Given the description of an element on the screen output the (x, y) to click on. 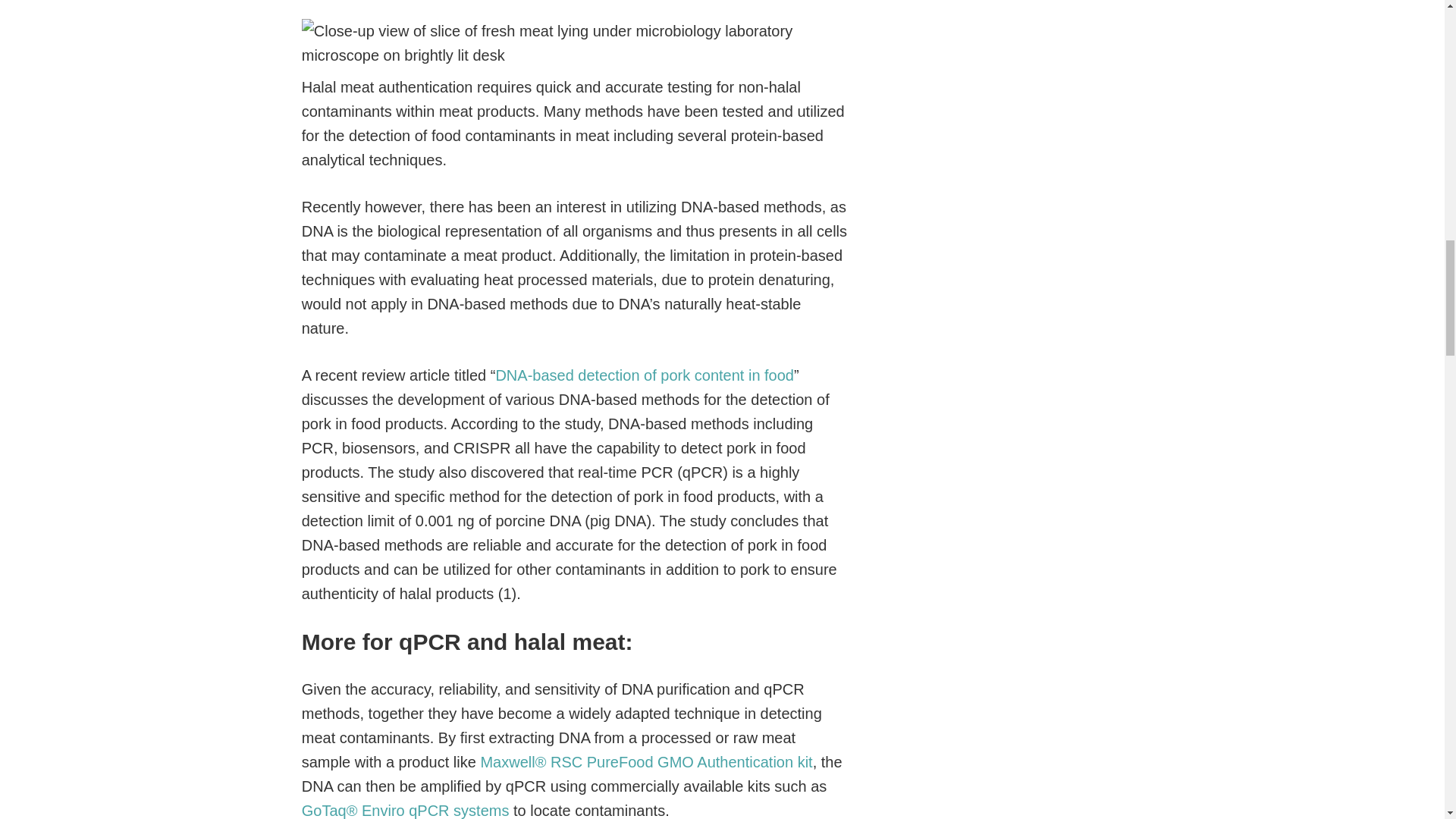
DNA-based detection of pork content in food (644, 375)
